Given the description of an element on the screen output the (x, y) to click on. 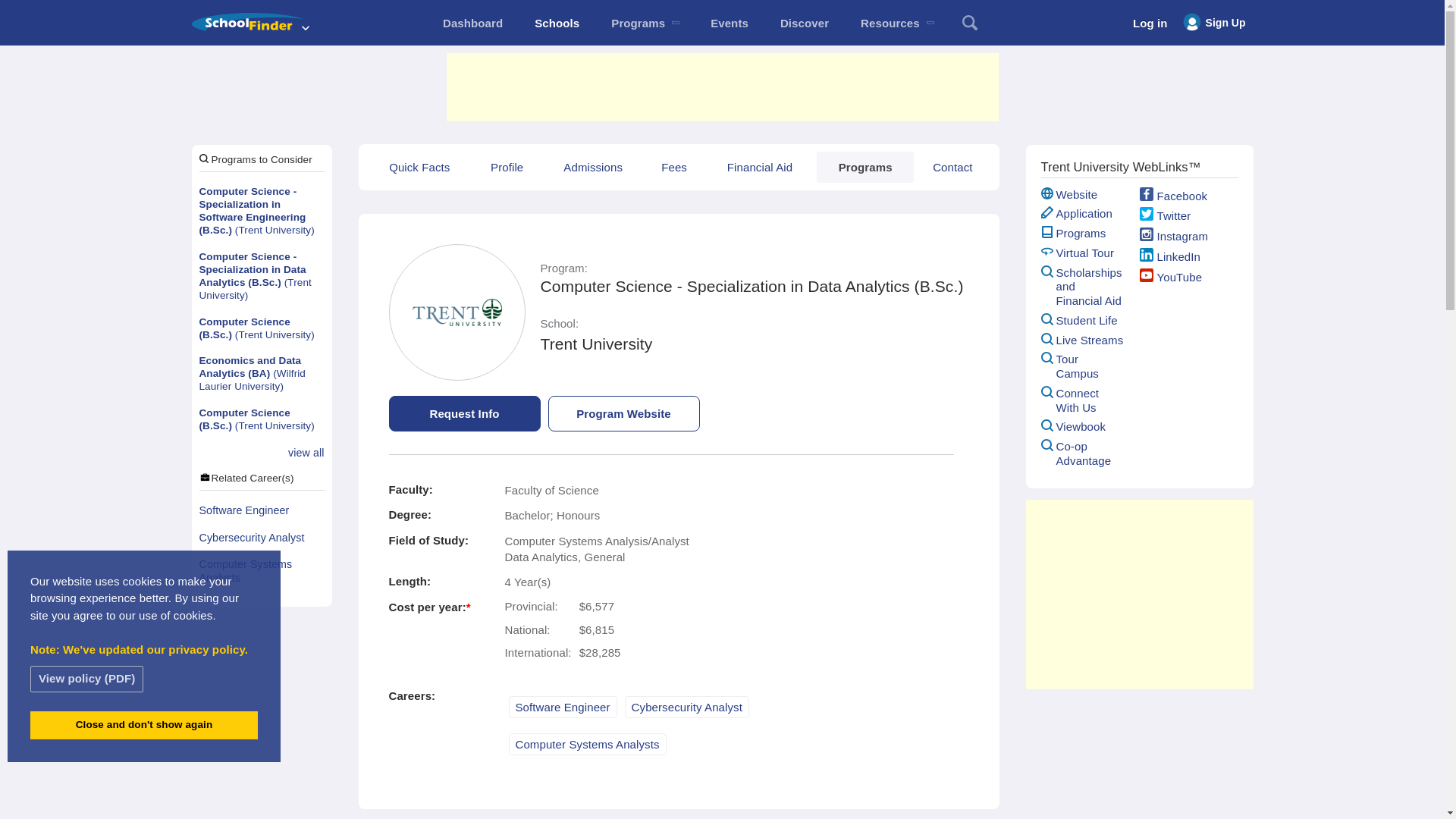
Discover (804, 22)
Close and don't show again (143, 725)
Events (729, 22)
mySTUFF (472, 22)
Schools (556, 22)
Schools (556, 22)
Software Engineer (260, 510)
Profile (506, 166)
Quick Facts (419, 166)
Events (729, 22)
Discover (804, 22)
Computer Systems Analysts (260, 571)
Cybersecurity Analyst (260, 538)
Resources (896, 22)
view all (306, 453)
